Given the description of an element on the screen output the (x, y) to click on. 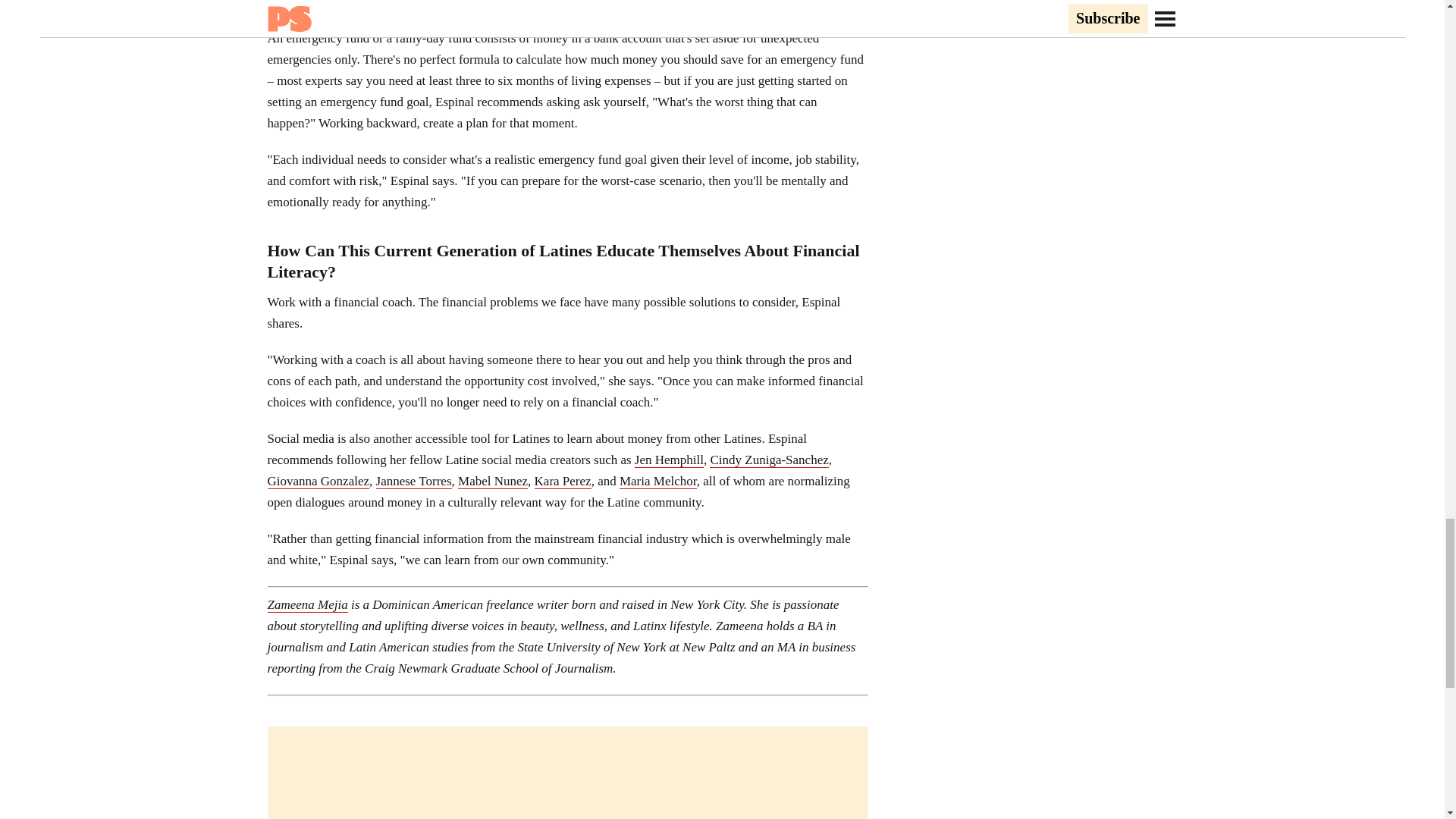
Cindy Zuniga-Sanchez (769, 459)
Giovanna Gonzalez (317, 481)
Mabel Nunez (492, 481)
Zameena Mejia (306, 604)
Jannese Torres (413, 481)
Kara Perez (562, 481)
Maria Melchor (658, 481)
Jen Hemphill (668, 459)
